Given the description of an element on the screen output the (x, y) to click on. 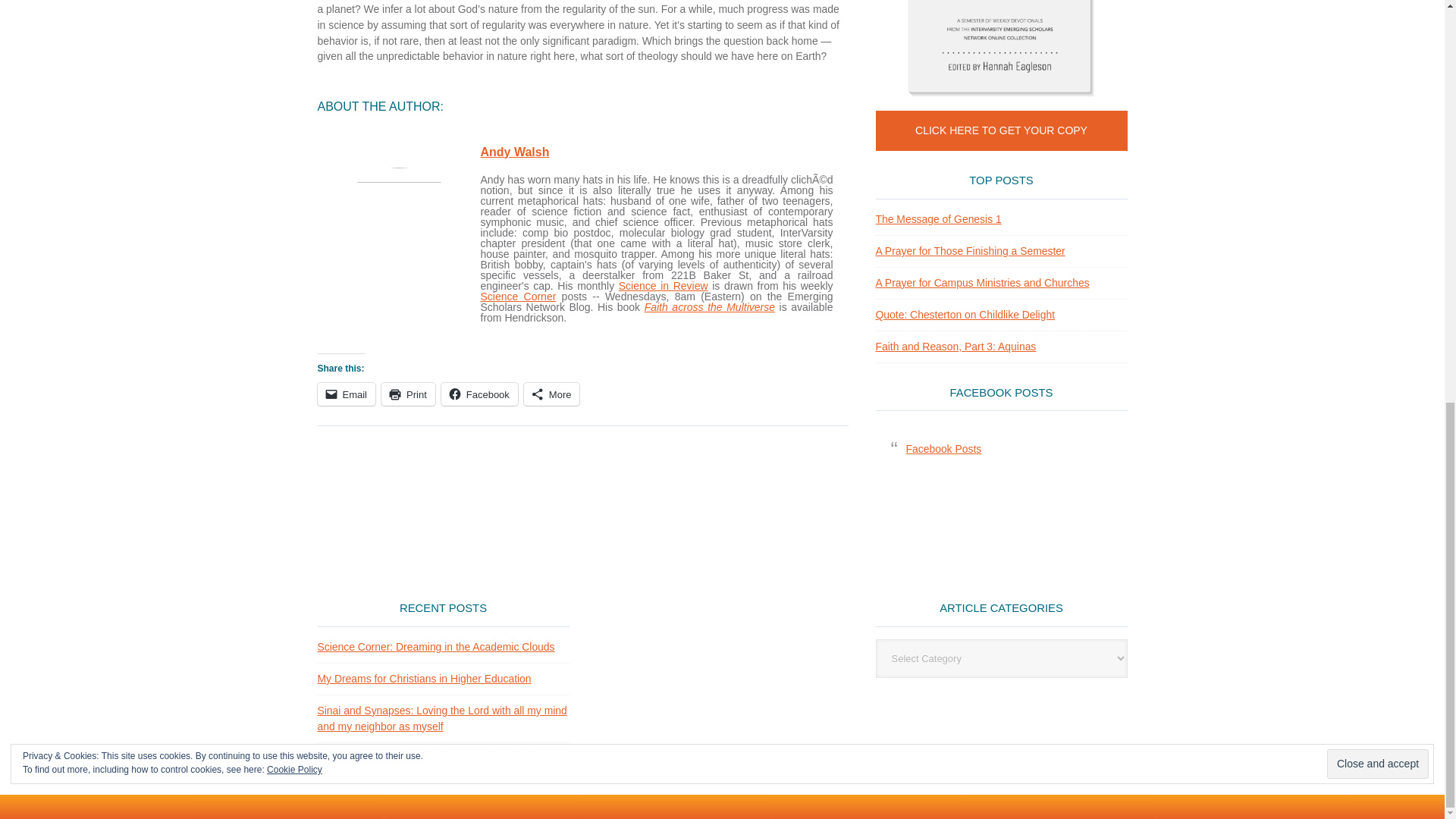
Science Corner (518, 296)
Science in Review (662, 285)
More (551, 394)
Email (346, 394)
Faith across the Multiverse (709, 306)
Print (408, 394)
Andy Walsh (515, 151)
Click to print (408, 394)
Click to share on Facebook (479, 394)
Click to email a link to a friend (346, 394)
